Given the description of an element on the screen output the (x, y) to click on. 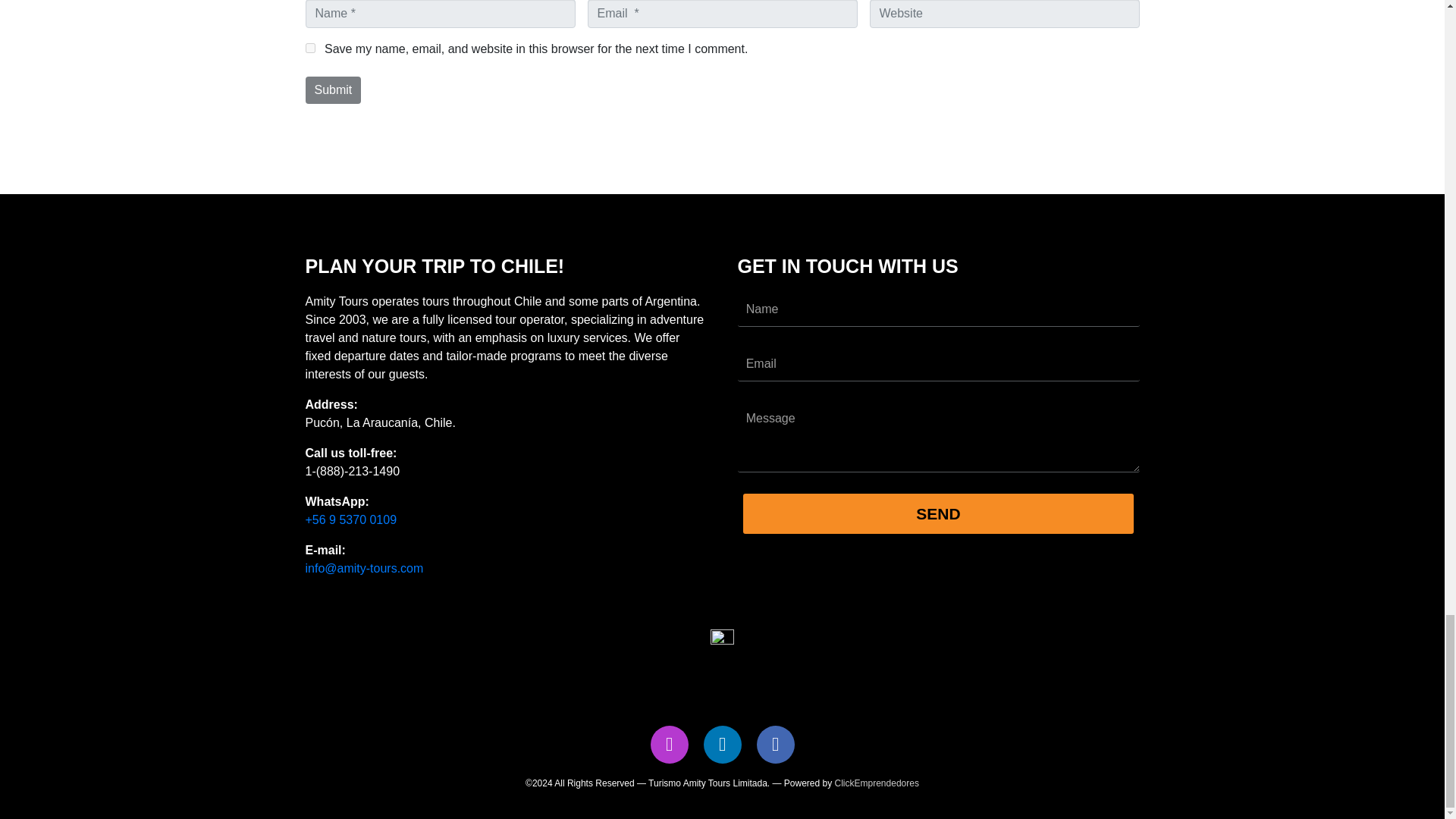
yes (309, 48)
